Given the description of an element on the screen output the (x, y) to click on. 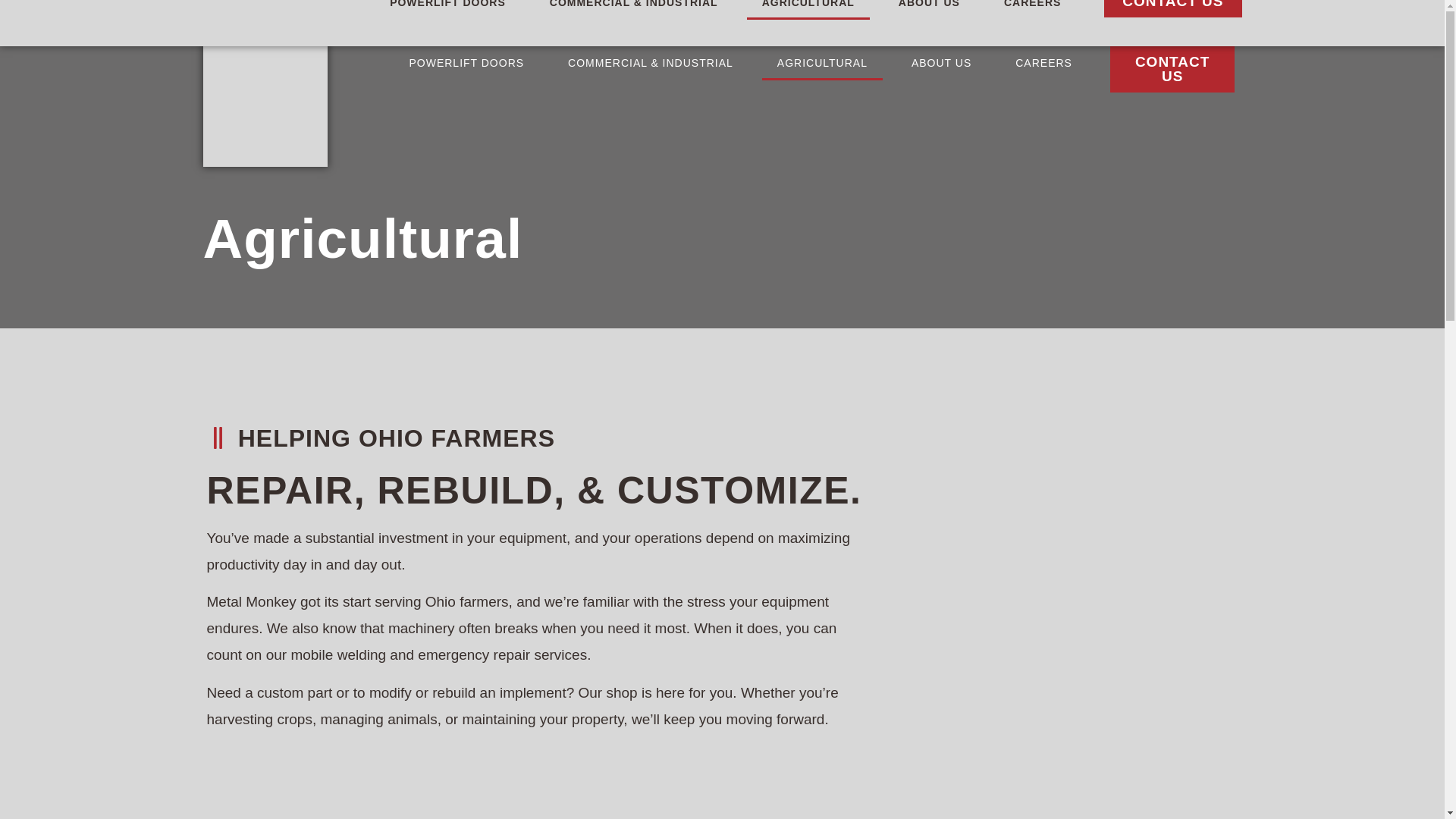
ABOUT US (941, 62)
POWERLIFT DOORS (465, 62)
CONTACT US (1171, 68)
POWERLIFT DOORS (447, 9)
ABOUT US (929, 9)
AGRICULTURAL (821, 62)
CONTACT US (1172, 8)
CAREERS (1031, 9)
CAREERS (1043, 62)
AGRICULTURAL (807, 9)
